Given the description of an element on the screen output the (x, y) to click on. 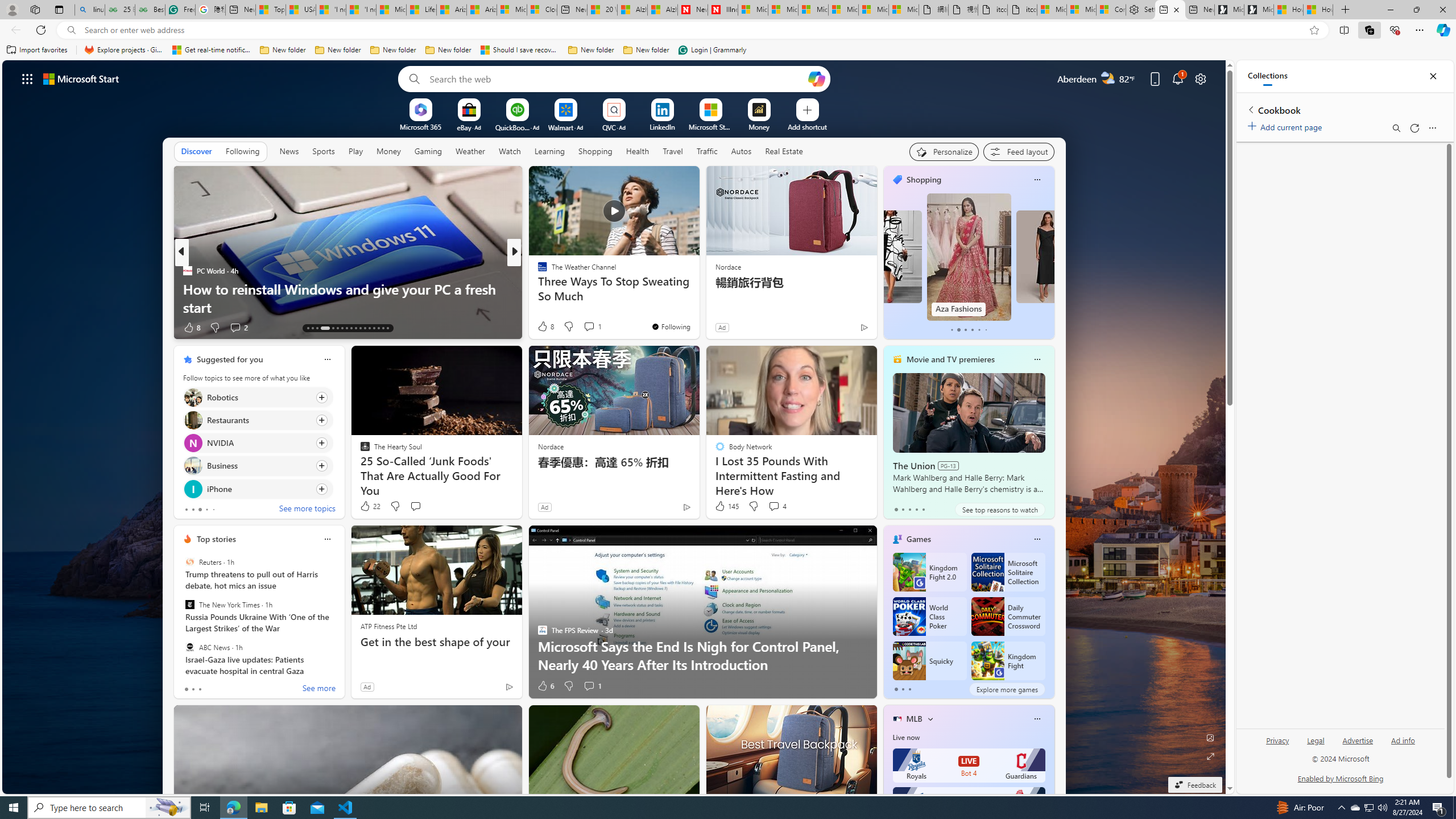
Shopping (922, 179)
Notifications (1177, 78)
USA TODAY - MSN (300, 9)
61 Like (543, 327)
LinkedIn (662, 126)
Add a site (807, 126)
Click to follow topic Robotics (257, 397)
How to reinstall Windows and give your PC a fresh start (347, 298)
Sports (323, 151)
Start the conversation (415, 505)
View comments 12 Comment (597, 327)
